Given the description of an element on the screen output the (x, y) to click on. 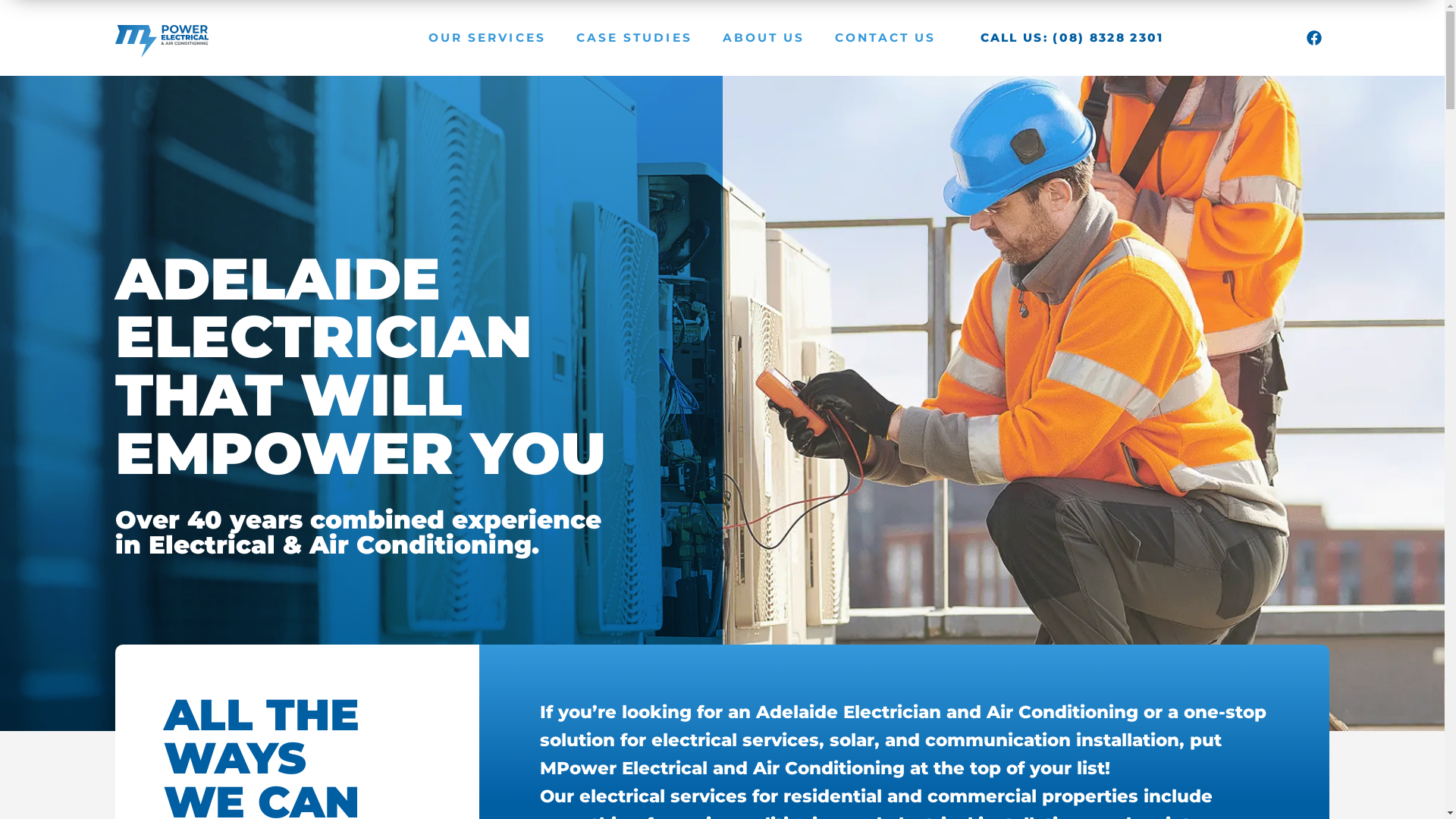
OUR SERVICES Element type: text (487, 37)
CONTACT US Element type: text (884, 37)
CALL US: (08) 8328 2301 Element type: text (1072, 37)
CASE STUDIES Element type: text (634, 37)
ABOUT US Element type: text (763, 37)
